Given the description of an element on the screen output the (x, y) to click on. 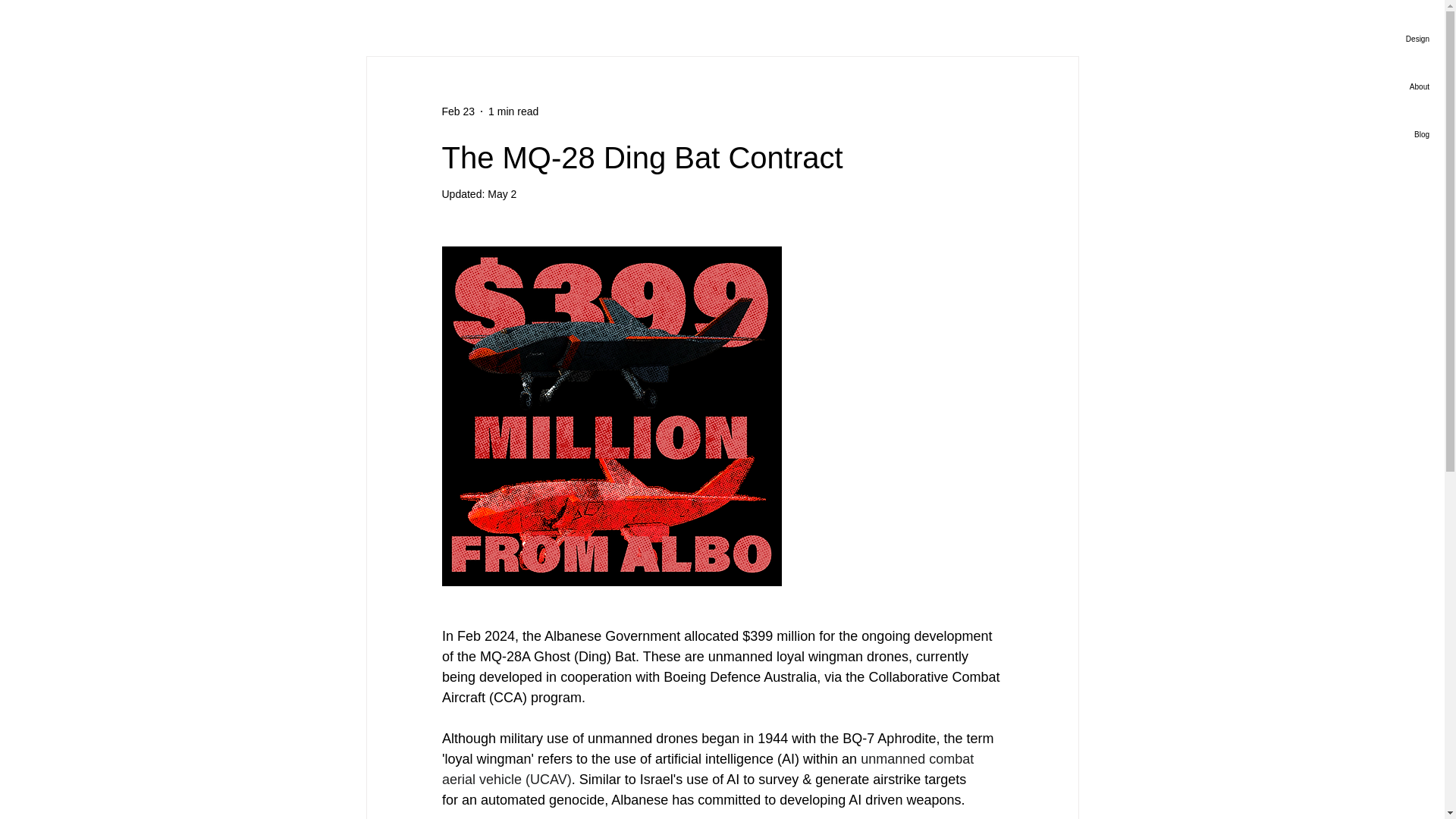
Blog (1375, 134)
May 2 (501, 193)
About (1375, 86)
1 min read (512, 110)
Feb 23 (457, 110)
Design (1375, 39)
